Given the description of an element on the screen output the (x, y) to click on. 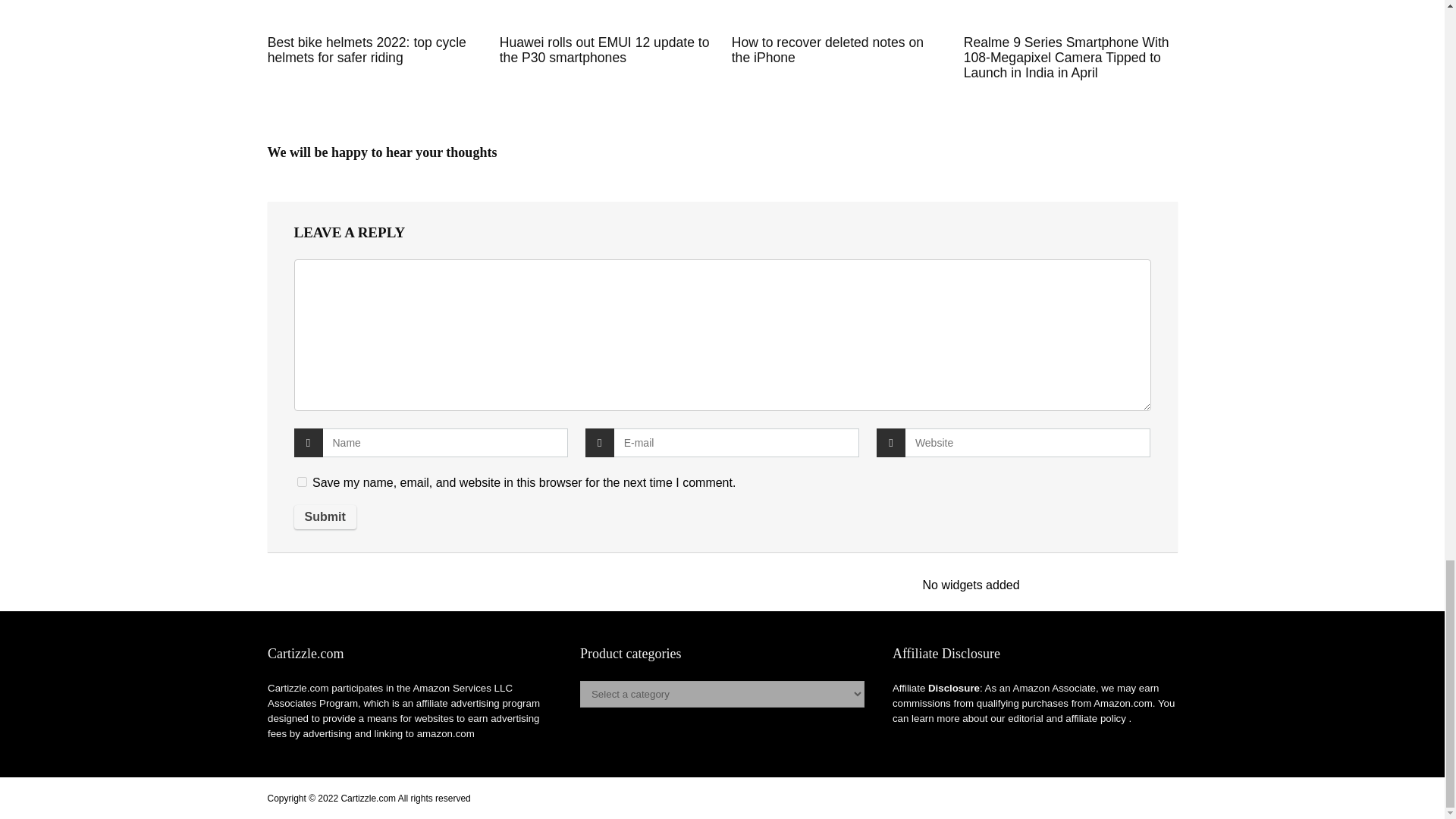
yes (302, 481)
Submit (325, 517)
Best bike helmets 2022: top cycle helmets for safer riding (366, 50)
